Given the description of an element on the screen output the (x, y) to click on. 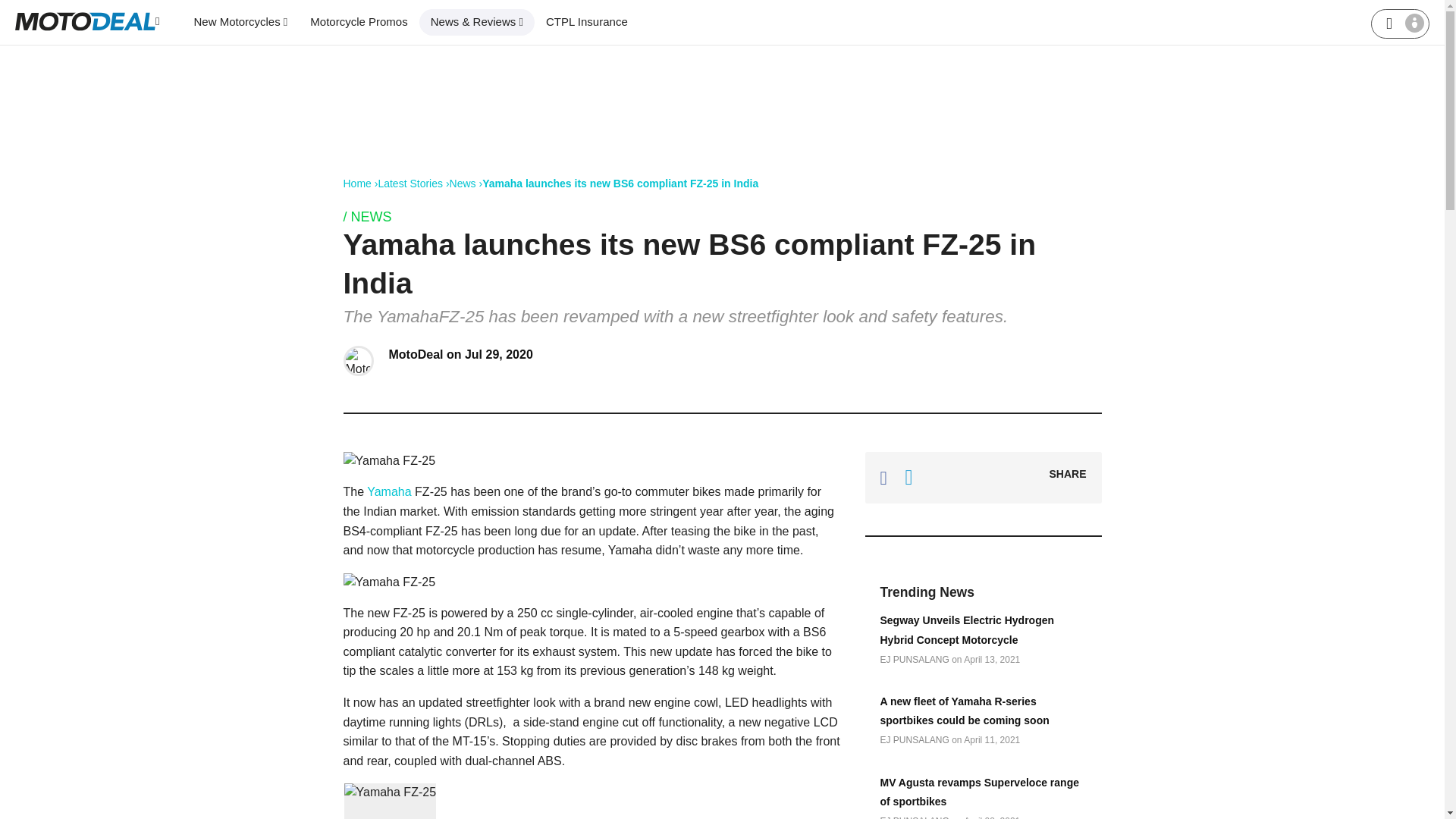
Motorcycle Promos (358, 22)
Yamaha (390, 491)
Yamaha launches its new BS6 compliant FZ-25 in India (619, 183)
CTPL Insurance (586, 22)
New Motorcycles (240, 22)
MotoDeal on Jul 29, 2020 (460, 354)
Yamaha Motorcycles (390, 491)
